Given the description of an element on the screen output the (x, y) to click on. 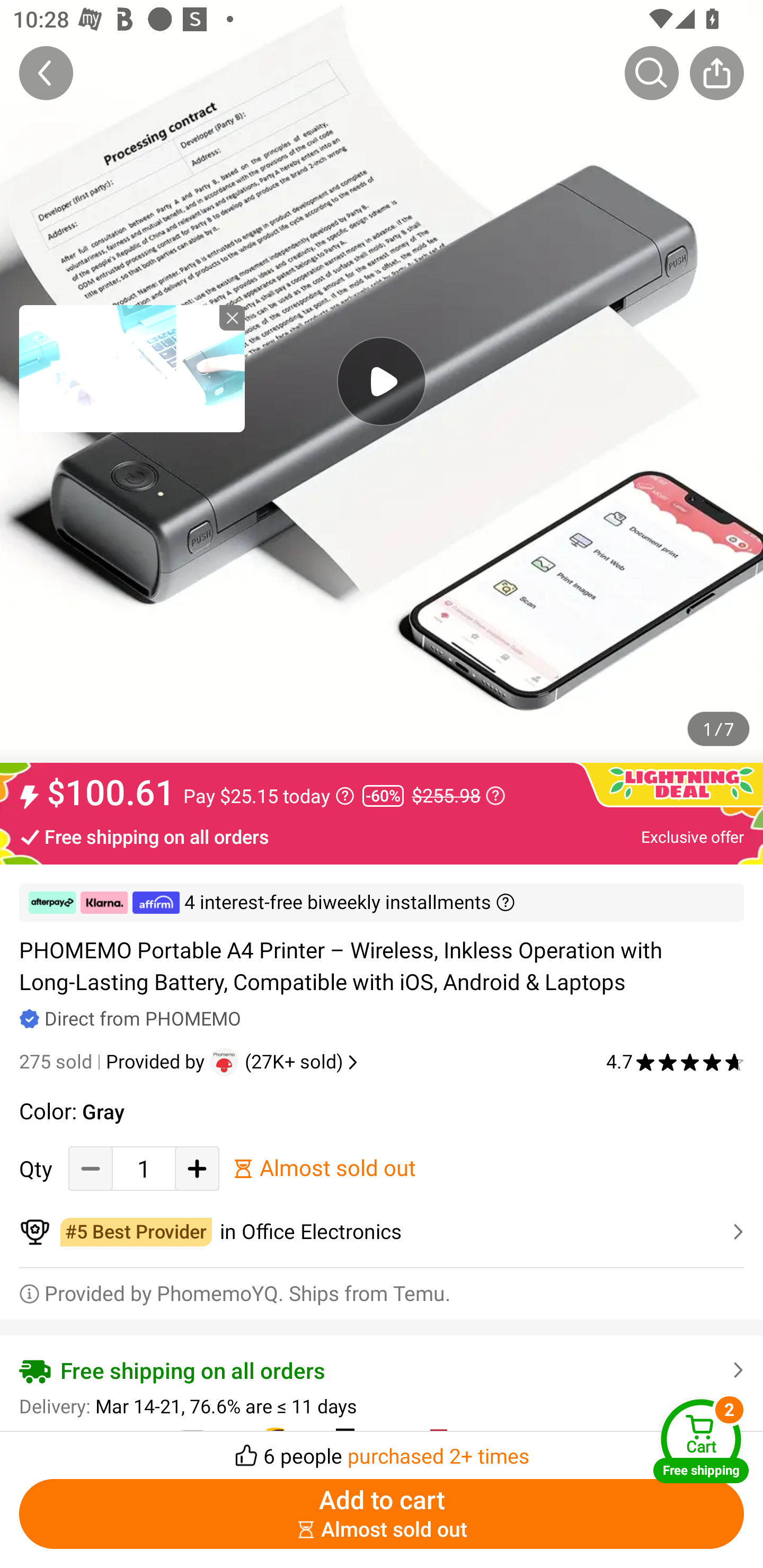
Back (46, 72)
Share (716, 72)
tronplayer_view (131, 368)
Pay $25.15 today   (268, 795)
Free shipping on all orders Exclusive offer (381, 836)
￼ ￼ ￼ 4 interest-free biweekly installments ￼ (381, 902)
4.7 (674, 1061)
Decrease Quantity Button (90, 1168)
1 (143, 1168)
Add Quantity button (196, 1168)
￼￼in Office Electronics (381, 1231)
Cart Free shipping Cart (701, 1440)
￼￼6 people purchased 2+ times (381, 1450)
Add to cart ￼￼Almost sold out (381, 1513)
